Given the description of an element on the screen output the (x, y) to click on. 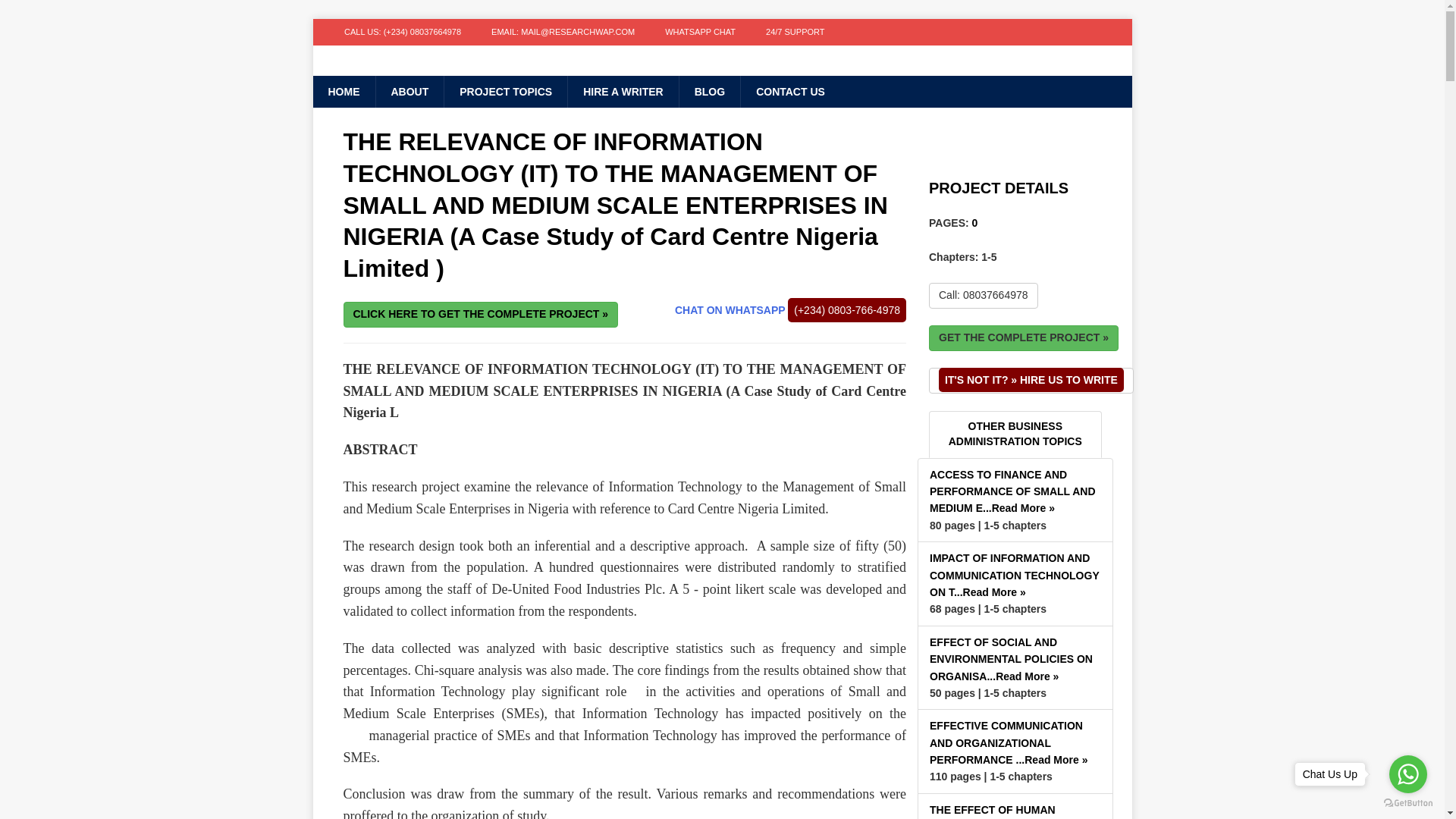
BLOG (708, 91)
ABOUT (409, 91)
PROJECT TOPICS (505, 91)
CONTACT US (789, 91)
HOME (343, 91)
Call: 08037664978 (983, 295)
HIRE A WRITER (622, 91)
OTHER BUSINESS ADMINISTRATION TOPICS (1015, 434)
WHATSAPP CHAT (700, 31)
